Given the description of an element on the screen output the (x, y) to click on. 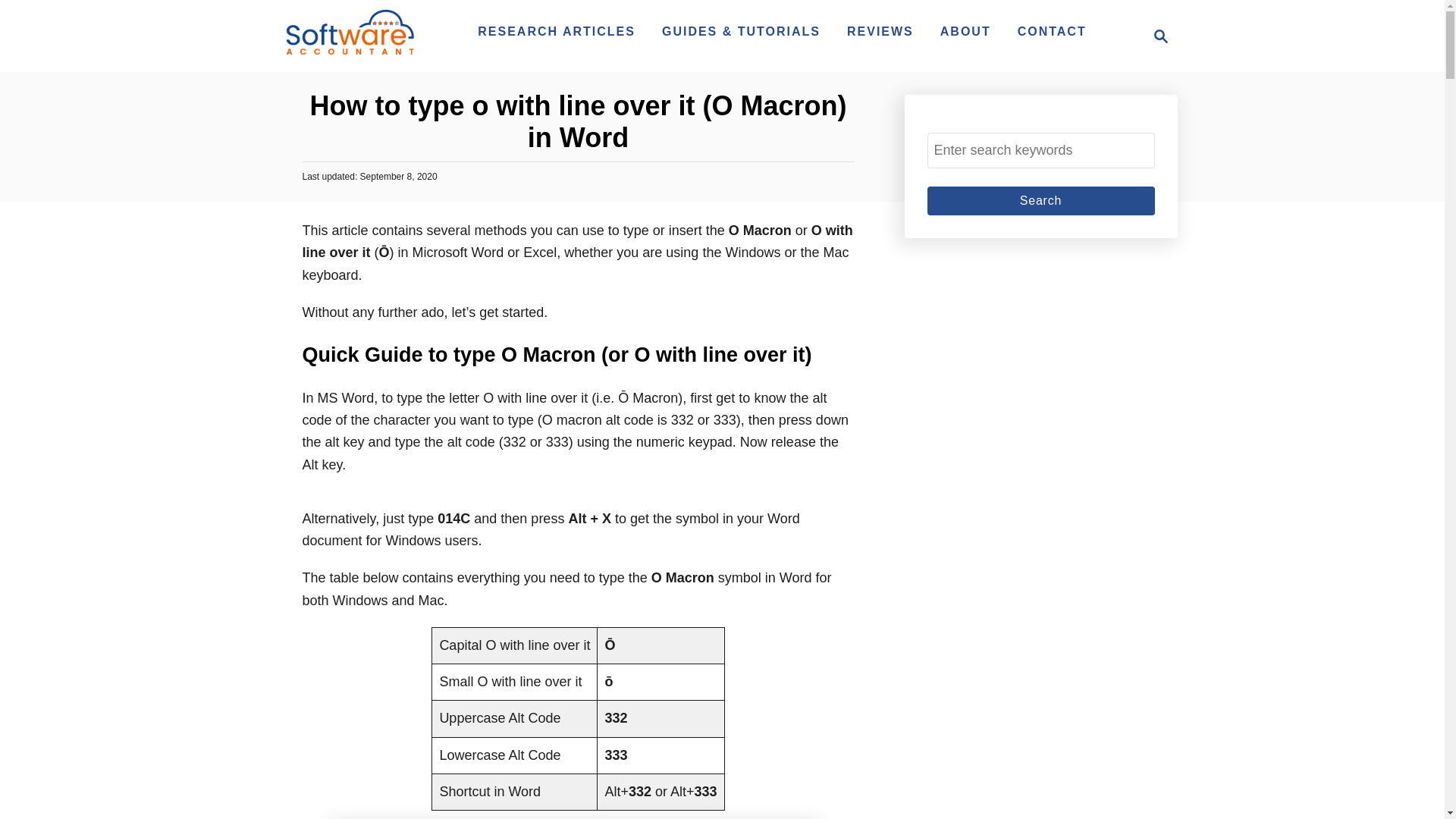
RESEARCH ARTICLES (556, 31)
ABOUT (965, 31)
Search (1040, 200)
Software Accountant (349, 35)
CONTACT (1052, 31)
REVIEWS (880, 31)
Search (1040, 200)
Magnifying Glass (1160, 36)
Search (1155, 36)
Search for: (1040, 200)
